Given the description of an element on the screen output the (x, y) to click on. 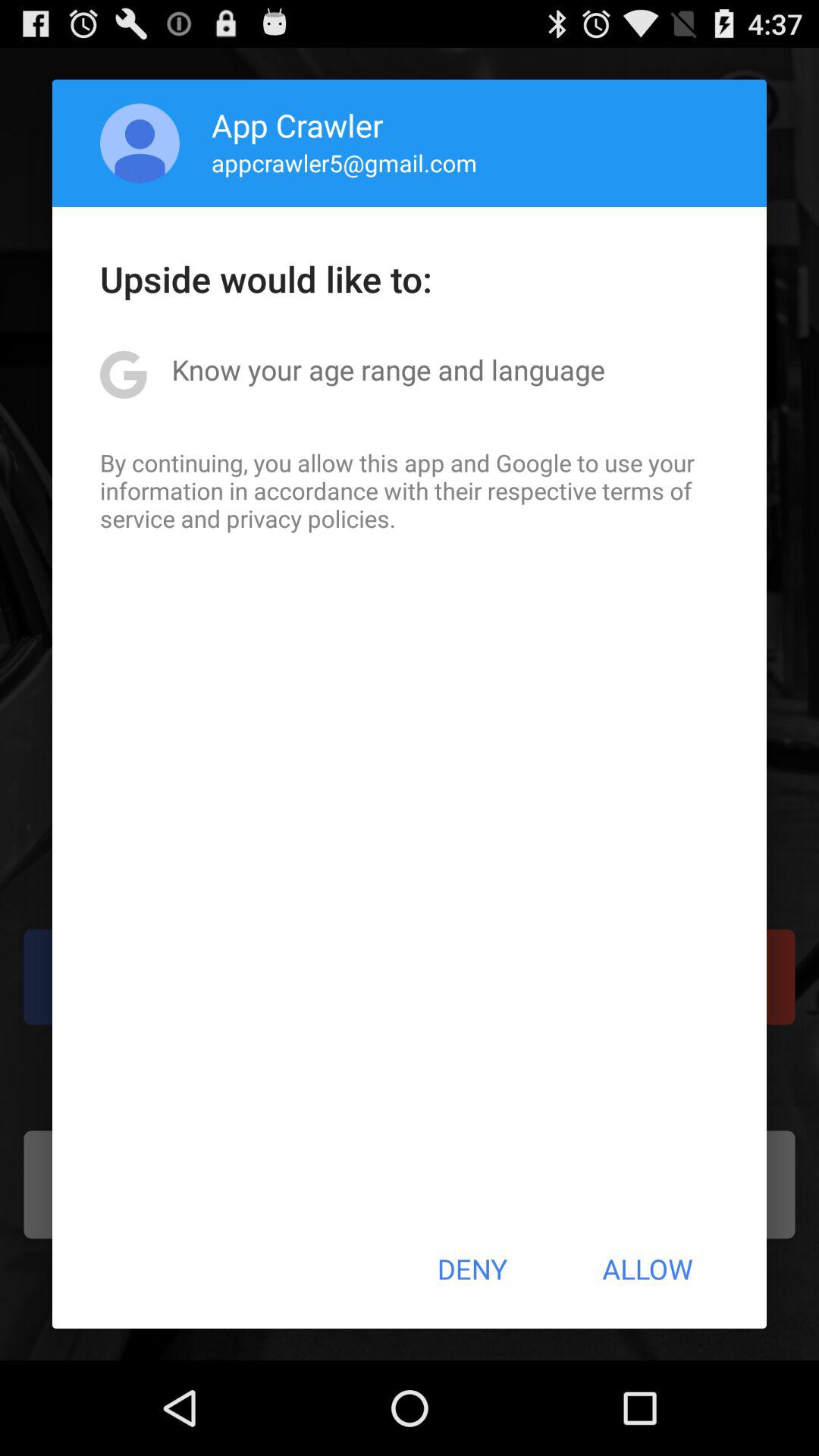
tap the item above the by continuing you item (388, 369)
